Given the description of an element on the screen output the (x, y) to click on. 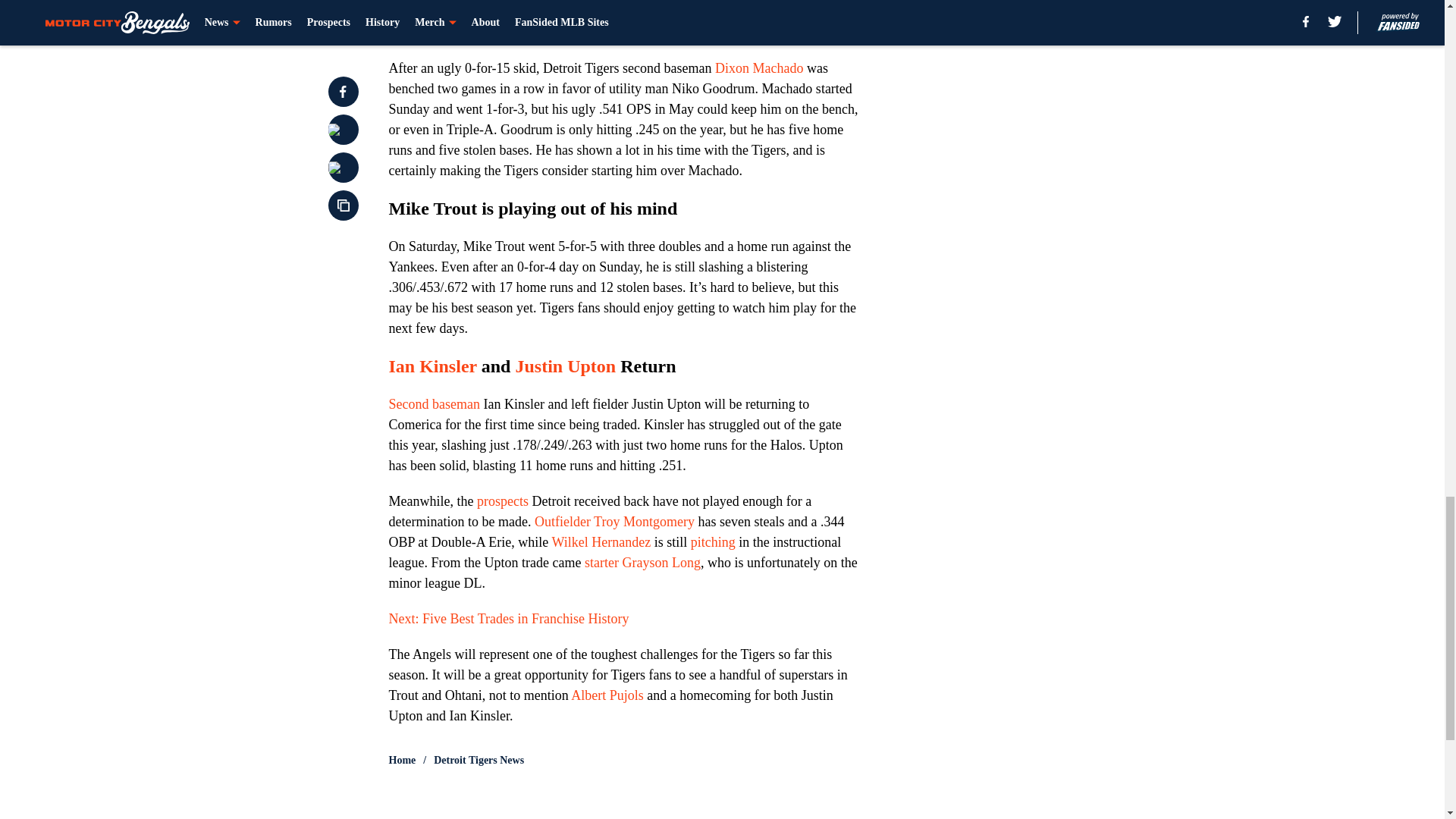
prospects (502, 500)
Ian Kinsler (432, 365)
Justin Upton (565, 365)
Niko Goodrum (465, 30)
Dixon Machado (758, 68)
Outfielder (562, 521)
Wilkel Hernandez (600, 541)
Second baseman (433, 403)
Troy Montgomery (644, 521)
